Given the description of an element on the screen output the (x, y) to click on. 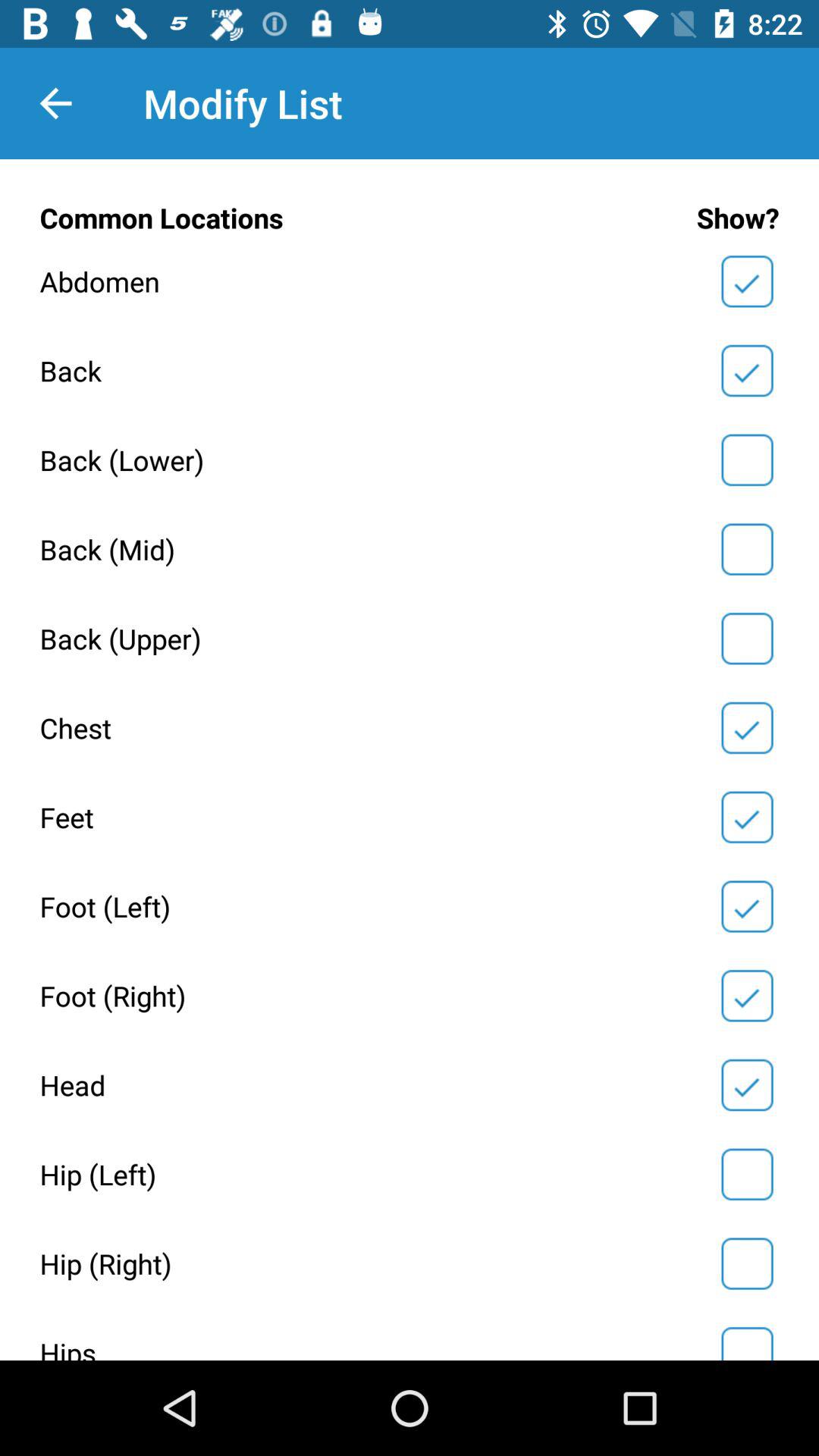
select/deselect foot (747, 906)
